Given the description of an element on the screen output the (x, y) to click on. 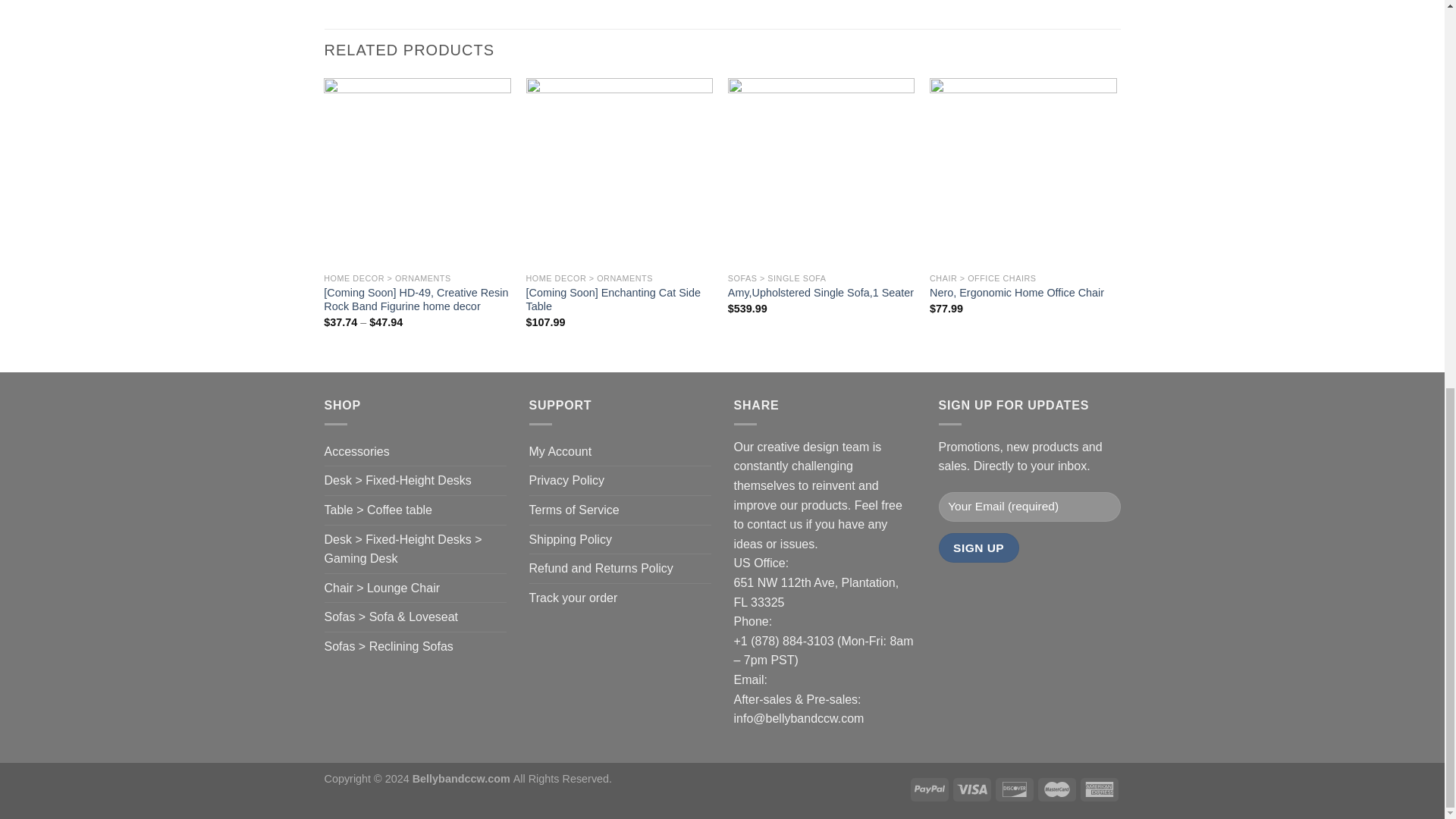
Submit (387, 449)
Sign Up (979, 547)
